Given the description of an element on the screen output the (x, y) to click on. 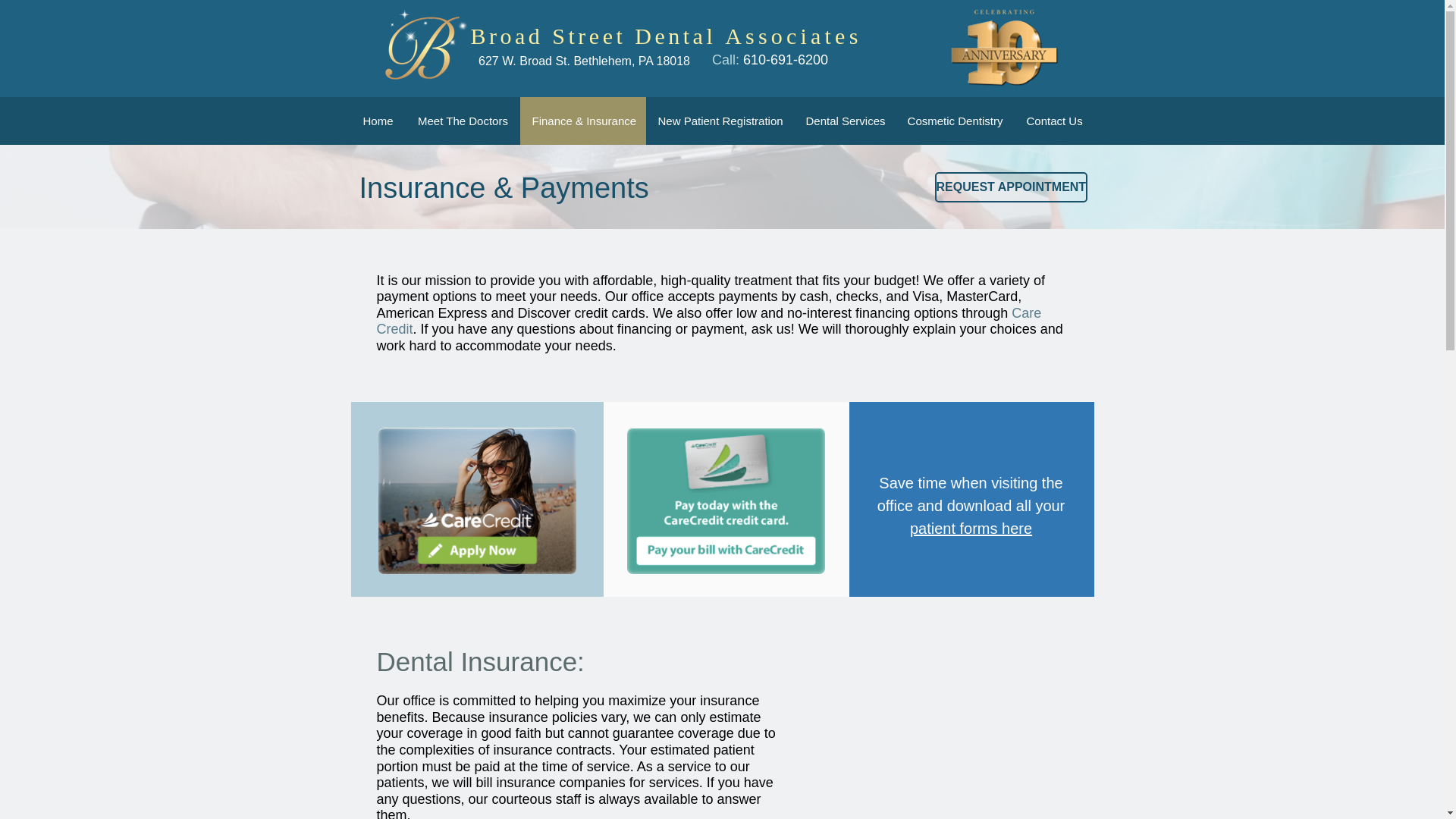
New Patient Registration (719, 120)
Care Credit (708, 321)
patient forms here (971, 528)
610-691-6200 (785, 59)
REQUEST APPOINTMENT (1010, 186)
Call: (726, 59)
Meet The Doctors (461, 120)
Cosmetic Dentistry (954, 120)
Broad Street Dental Associates Bethlehel PA - Official Logo (421, 46)
Dental Services (844, 120)
